Given the description of an element on the screen output the (x, y) to click on. 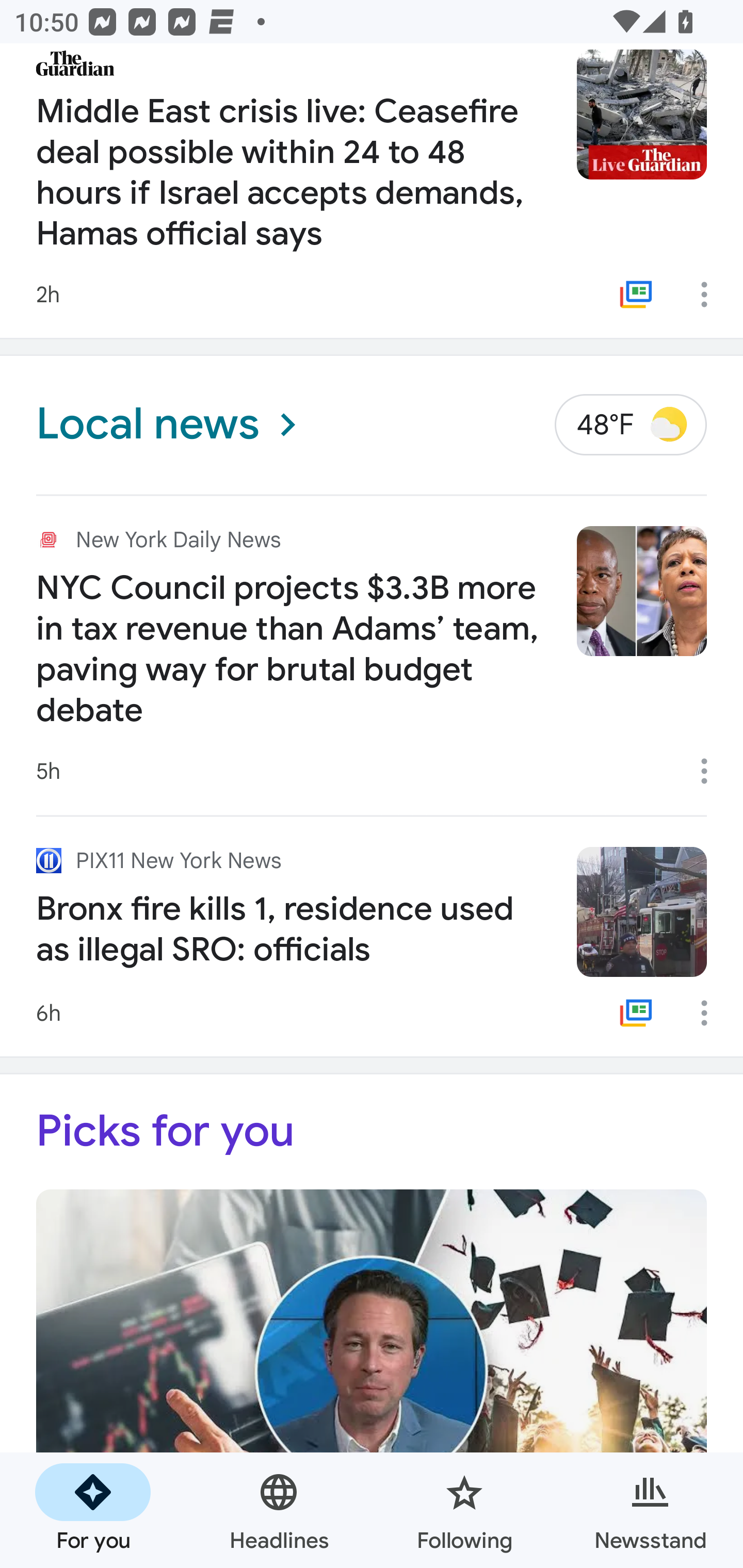
More options (711, 294)
More options (711, 770)
More options (711, 1012)
For you (92, 1509)
Headlines (278, 1509)
Following (464, 1509)
Newsstand (650, 1509)
